Given the description of an element on the screen output the (x, y) to click on. 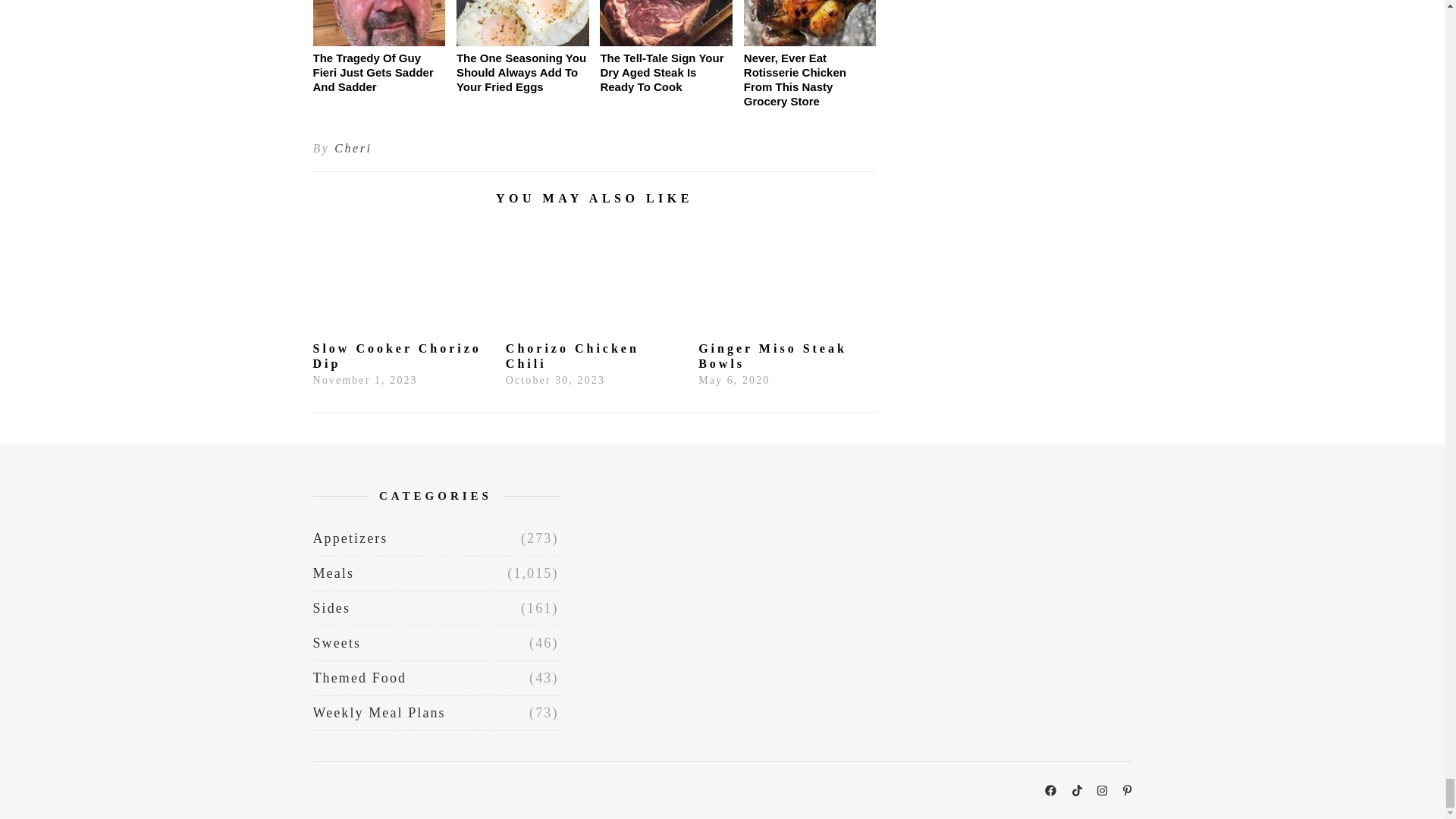
Posts by Cheri (352, 148)
